Given the description of an element on the screen output the (x, y) to click on. 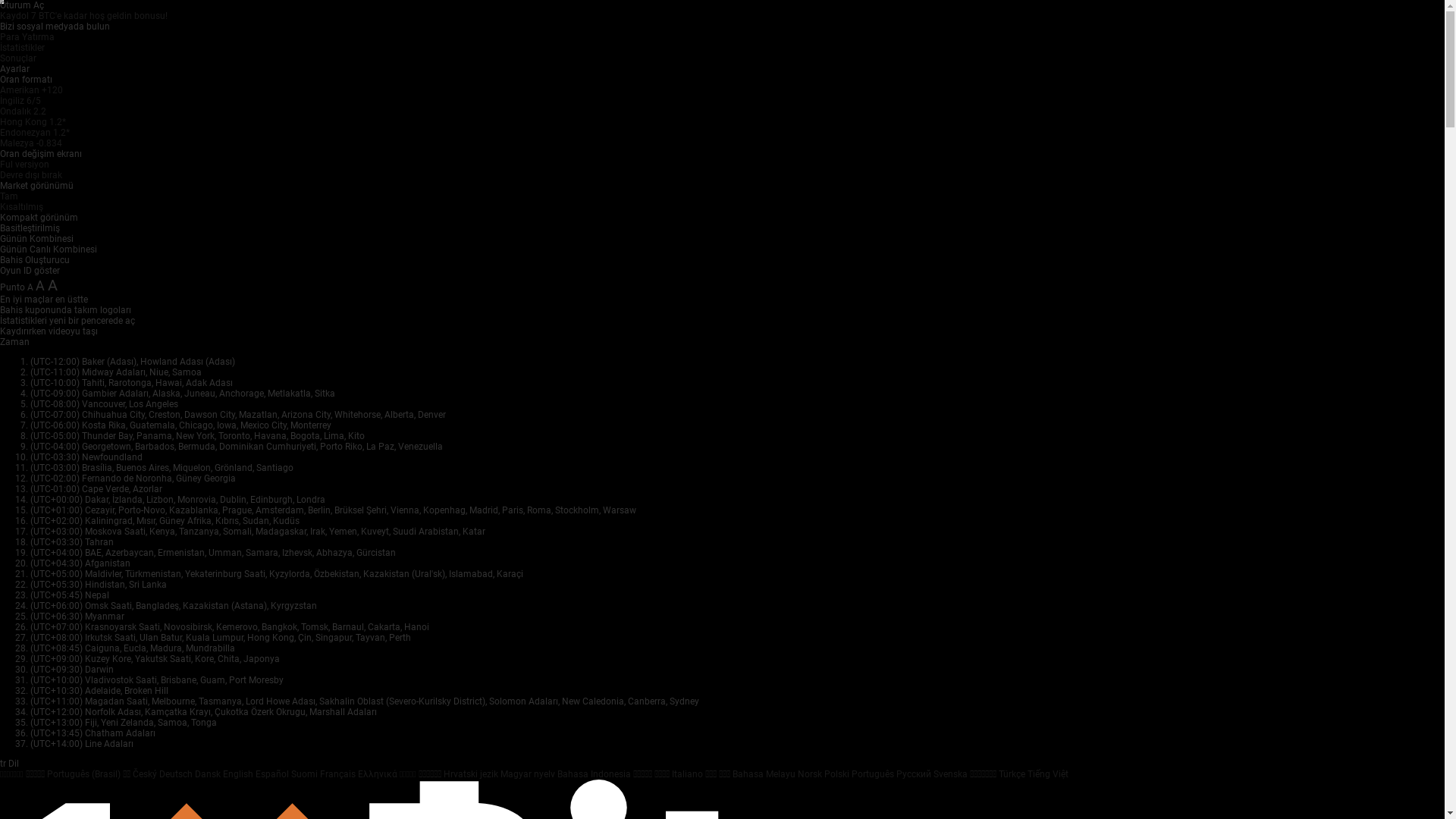
Italiano Element type: text (688, 773)
Magyar nyelv Element type: text (528, 773)
Kaydol Element type: text (15, 15)
Hong Kong 1.2* Element type: text (32, 121)
Hrvatski jezik Element type: text (471, 773)
Amerikan +120 Element type: text (31, 89)
Norsk Element type: text (810, 773)
Dansk Element type: text (208, 773)
Ful versiyon Element type: text (24, 164)
Bahasa Melayu Element type: text (764, 773)
English Element type: text (238, 773)
Bahasa Indonesia Element type: text (595, 773)
Svenska Element type: text (951, 773)
Polski Element type: text (837, 773)
Suomi Element type: text (305, 773)
Deutsch Element type: text (176, 773)
Malezya -0.834 Element type: text (31, 143)
Endonezyan 1.2* Element type: text (34, 132)
Tam Element type: text (9, 196)
